Given the description of an element on the screen output the (x, y) to click on. 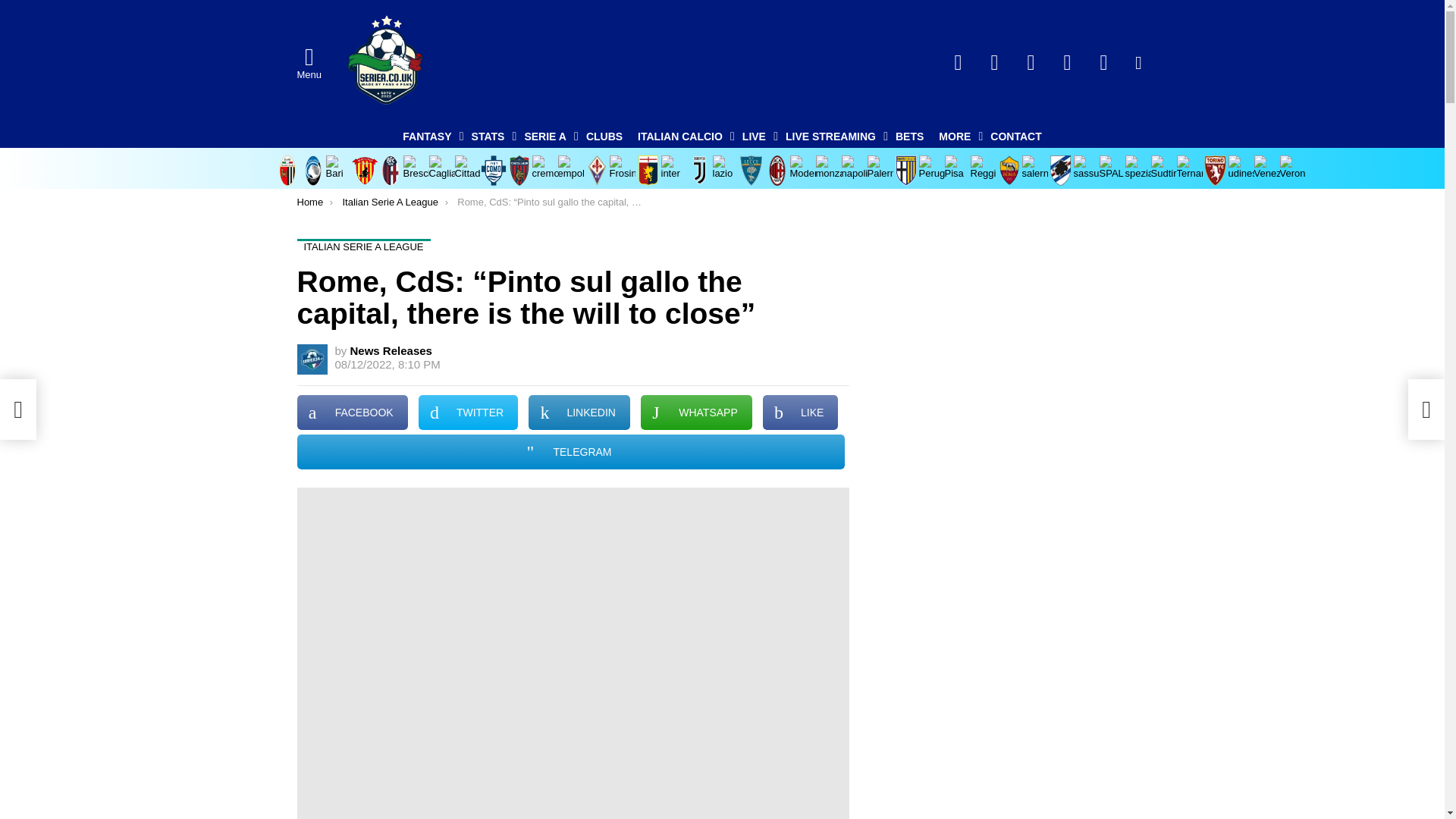
Share on Facebook (352, 411)
Linkedin (1067, 62)
Share on Telegram (570, 451)
Facebook (958, 62)
Instagram (1104, 62)
Share on Twitter (468, 411)
Share on Like (800, 411)
Telegram (1031, 62)
Twitter (994, 62)
Share on LinkedIn (579, 411)
Share on WhatsApp (696, 411)
Posts by News Releases (391, 350)
STATS (490, 136)
SERIE A (547, 136)
FANTASY (428, 136)
